Given the description of an element on the screen output the (x, y) to click on. 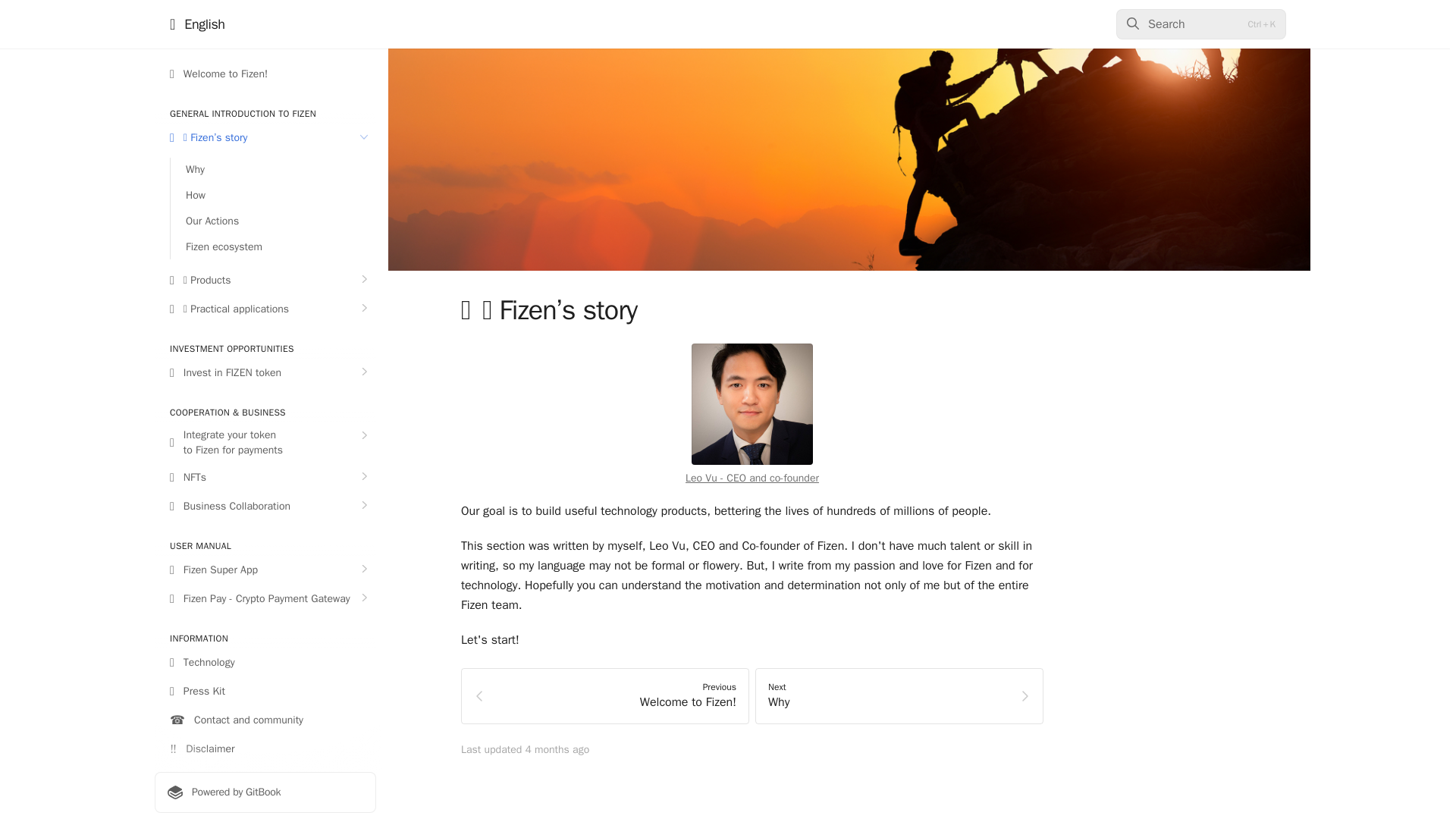
Why (272, 169)
Fizen ecosystem (272, 247)
Broken link (751, 477)
How (272, 195)
Our Actions (272, 221)
